Given the description of an element on the screen output the (x, y) to click on. 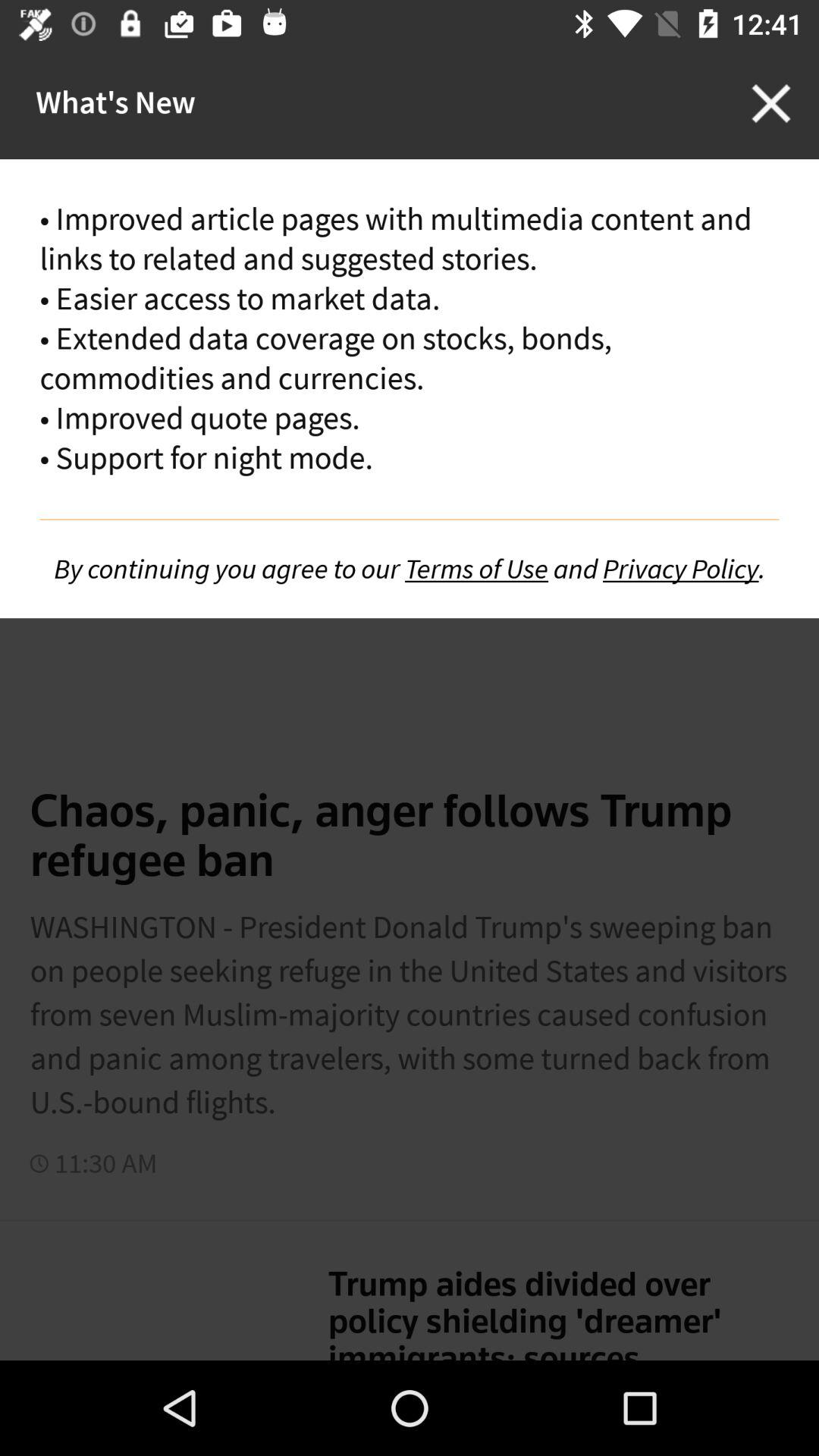
select the close icon on the top right corner of the screen (771, 103)
click on terms of use privacy policy (409, 568)
